Given the description of an element on the screen output the (x, y) to click on. 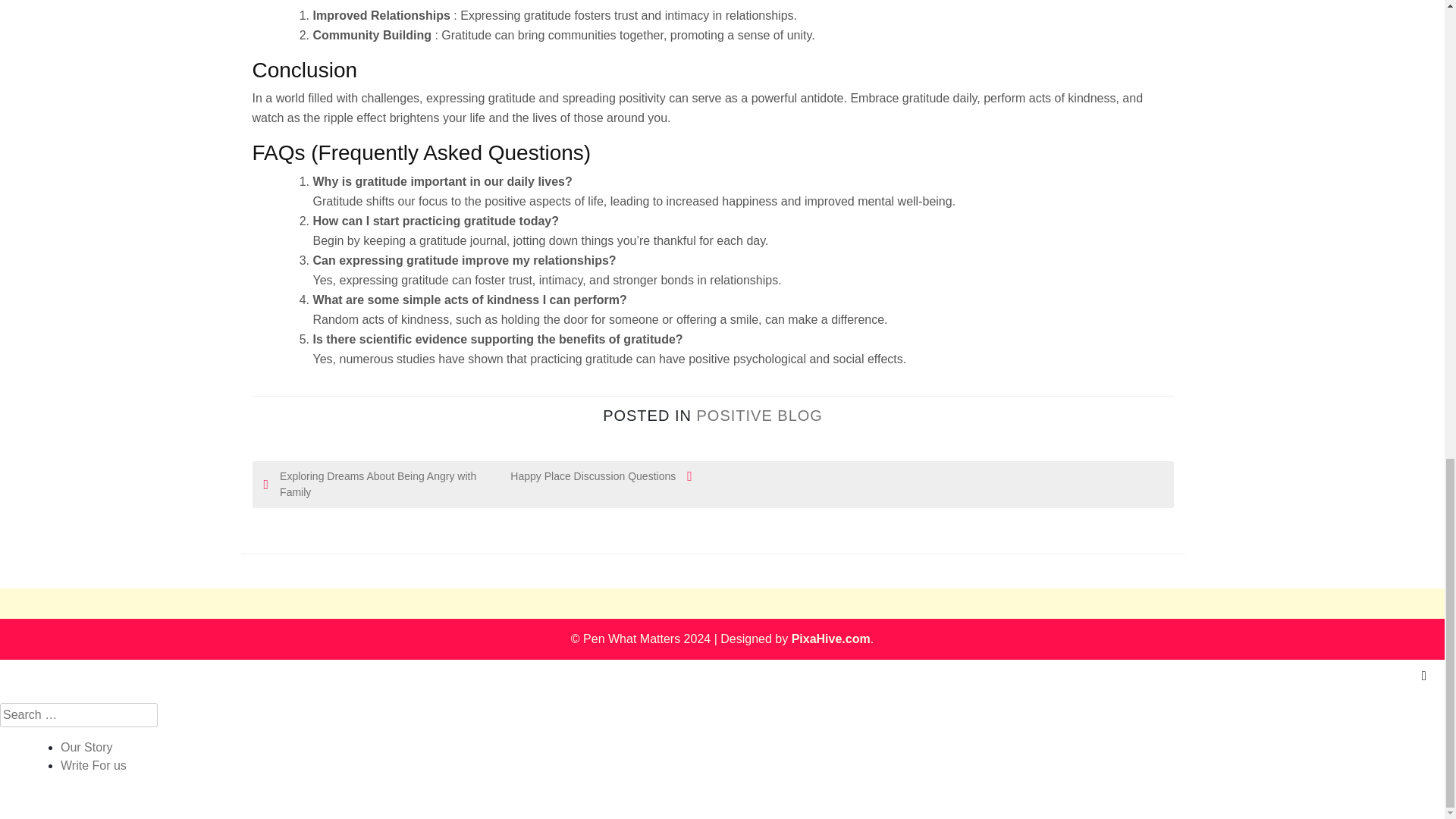
Exploring Dreams About Being Angry with Family (371, 484)
PixaHive.com (831, 638)
Write For us (93, 765)
POSITIVE BLOG (758, 415)
Happy Place Discussion Questions (585, 476)
Our Story (86, 747)
